Given the description of an element on the screen output the (x, y) to click on. 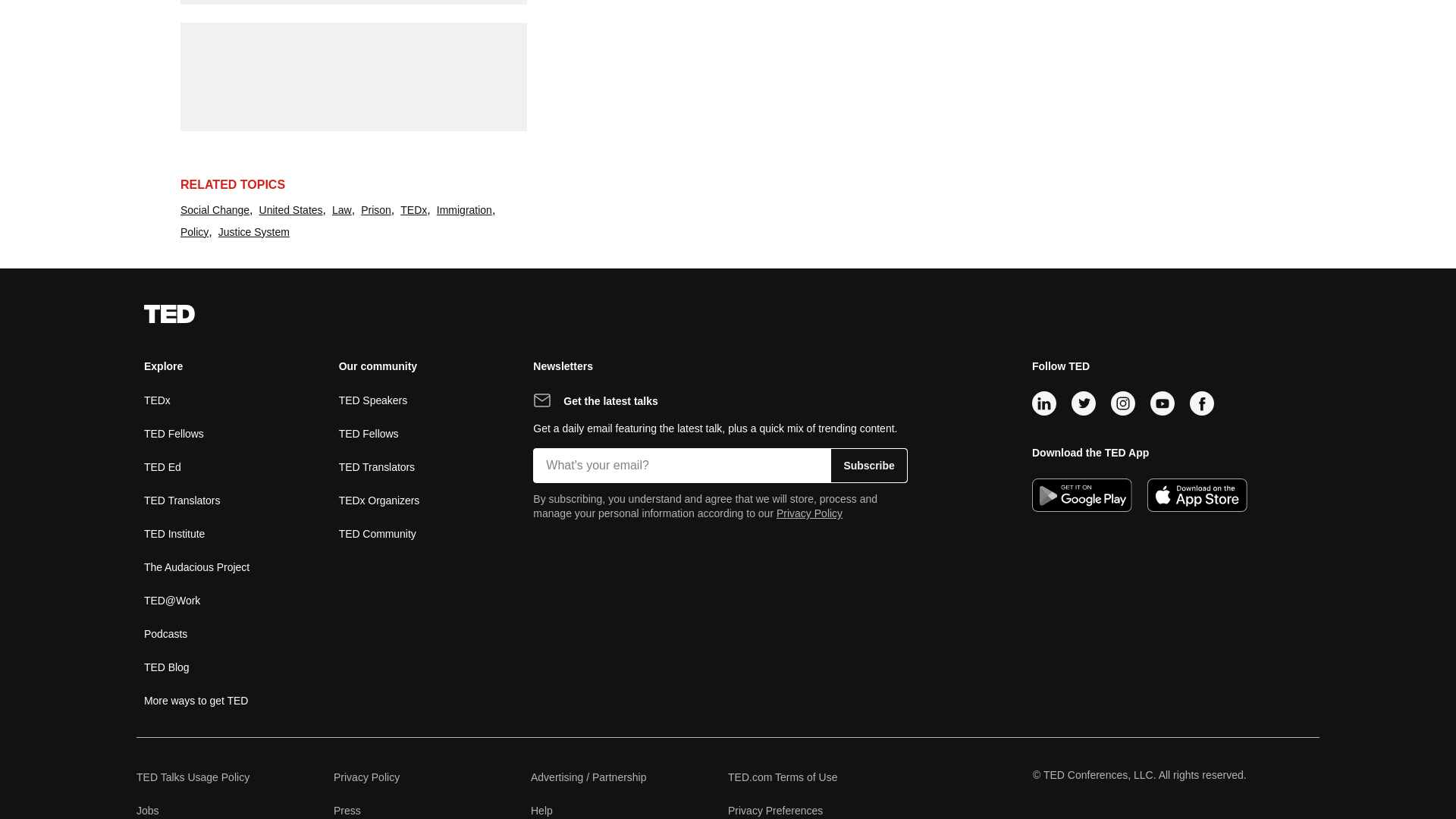
Prison (376, 210)
Law (341, 210)
Justice System (253, 232)
TED Translators (181, 499)
United States (291, 210)
Social Change (214, 210)
Immigration (464, 210)
TED Ed (162, 466)
TED Institute (174, 533)
TED Fellows (173, 432)
TEDx (413, 210)
Policy (194, 232)
TEDx (157, 399)
